Given the description of an element on the screen output the (x, y) to click on. 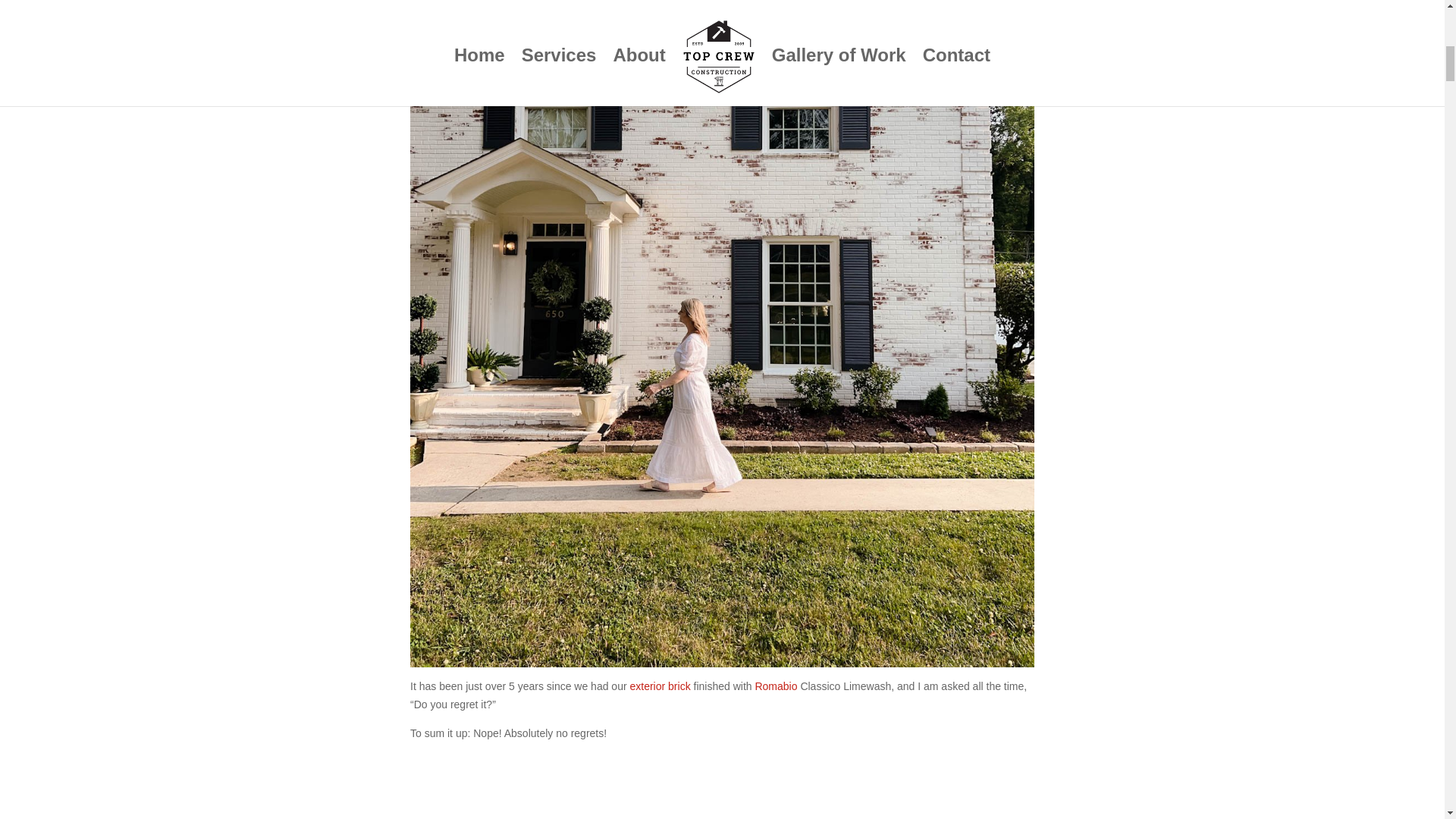
exterior brick (659, 686)
Romabio (775, 686)
